Given the description of an element on the screen output the (x, y) to click on. 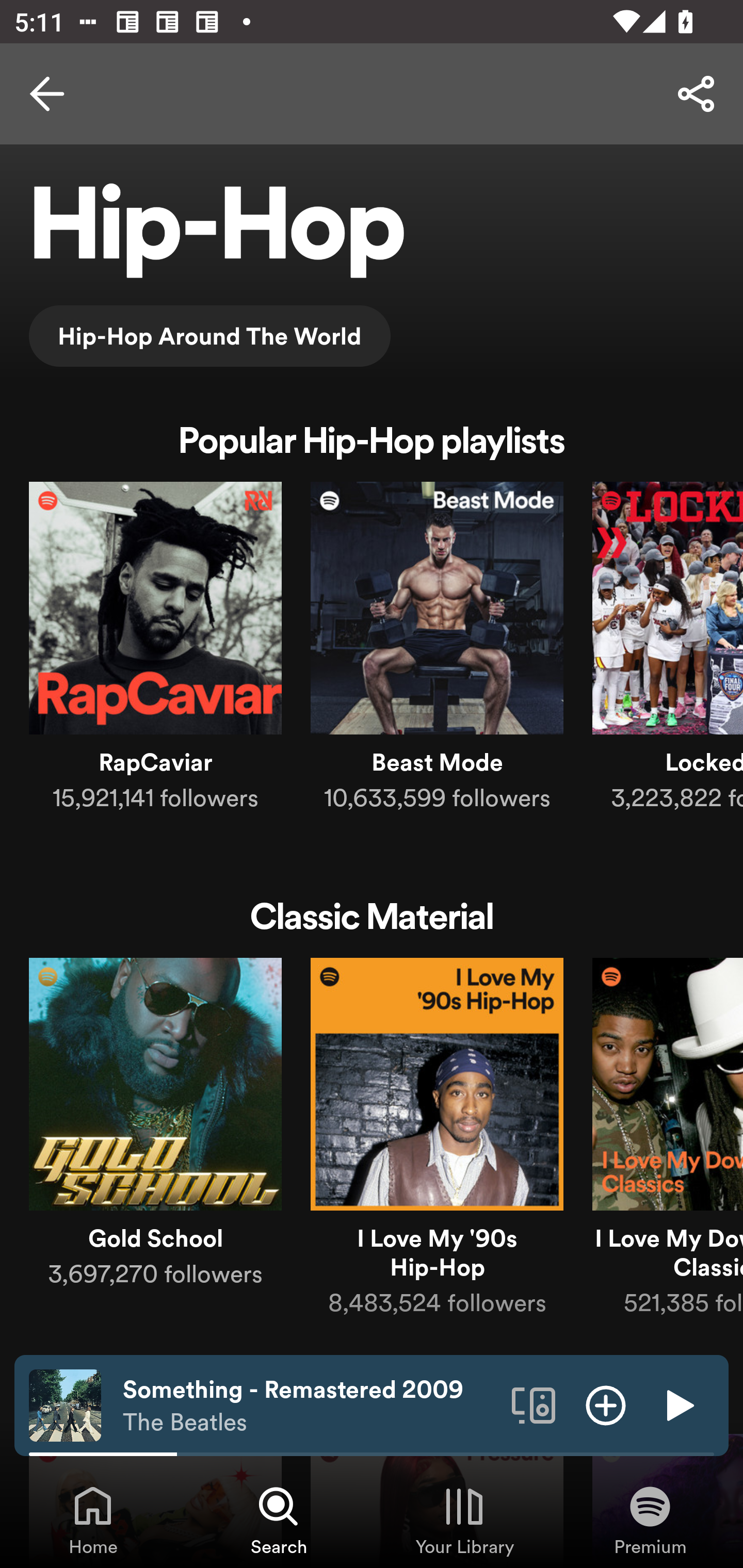
Back (46, 93)
Share Menu (695, 93)
Hip-Hop Around The World (209, 335)
Something - Remastered 2009 The Beatles (309, 1405)
The cover art of the currently playing track (64, 1404)
Connect to a device. Opens the devices menu (533, 1404)
Add item (605, 1404)
Play (677, 1404)
Home, Tab 1 of 4 Home Home (92, 1519)
Search, Tab 2 of 4 Search Search (278, 1519)
Your Library, Tab 3 of 4 Your Library Your Library (464, 1519)
Premium, Tab 4 of 4 Premium Premium (650, 1519)
